Given the description of an element on the screen output the (x, y) to click on. 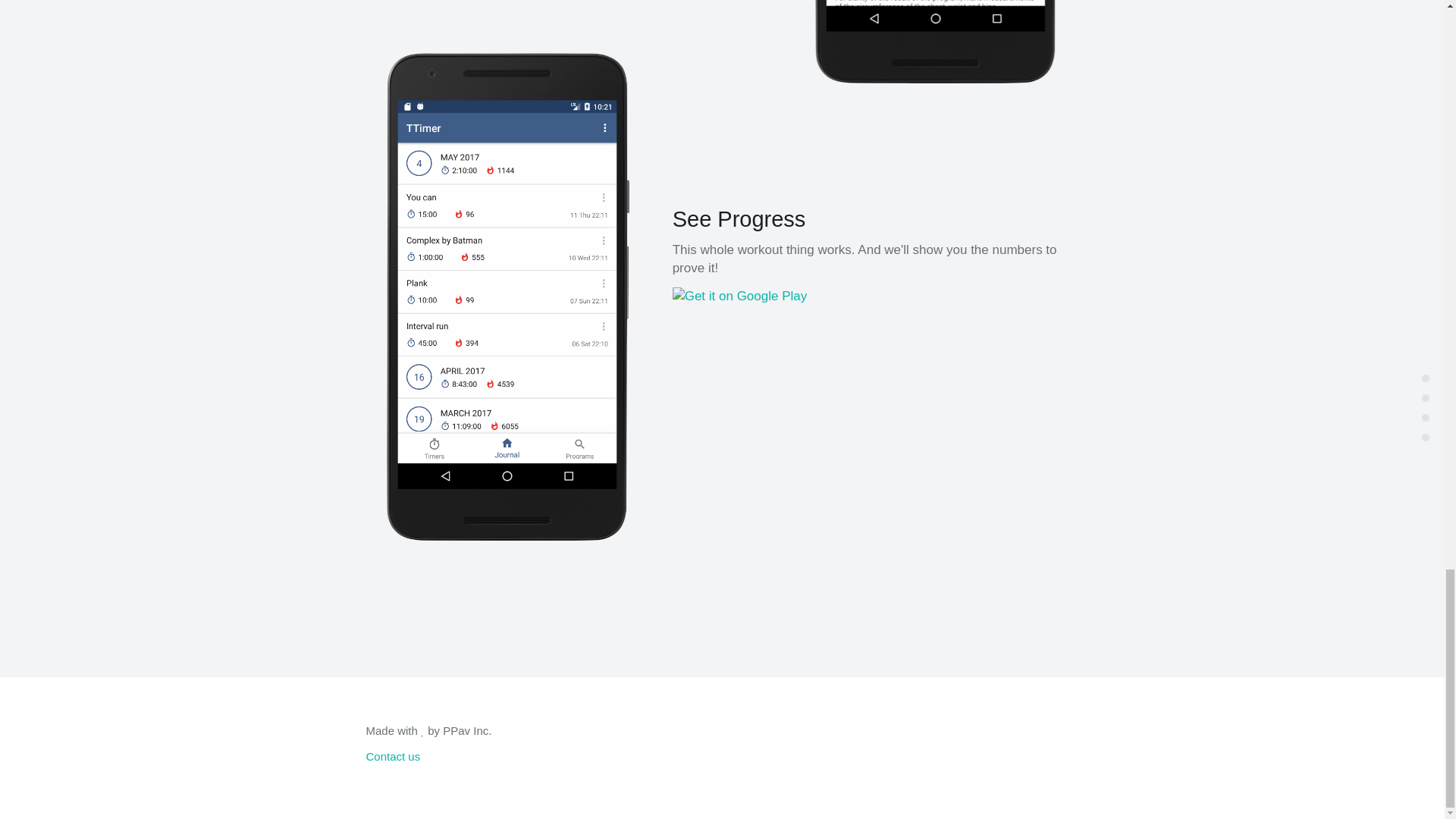
Contact us (392, 756)
